Given the description of an element on the screen output the (x, y) to click on. 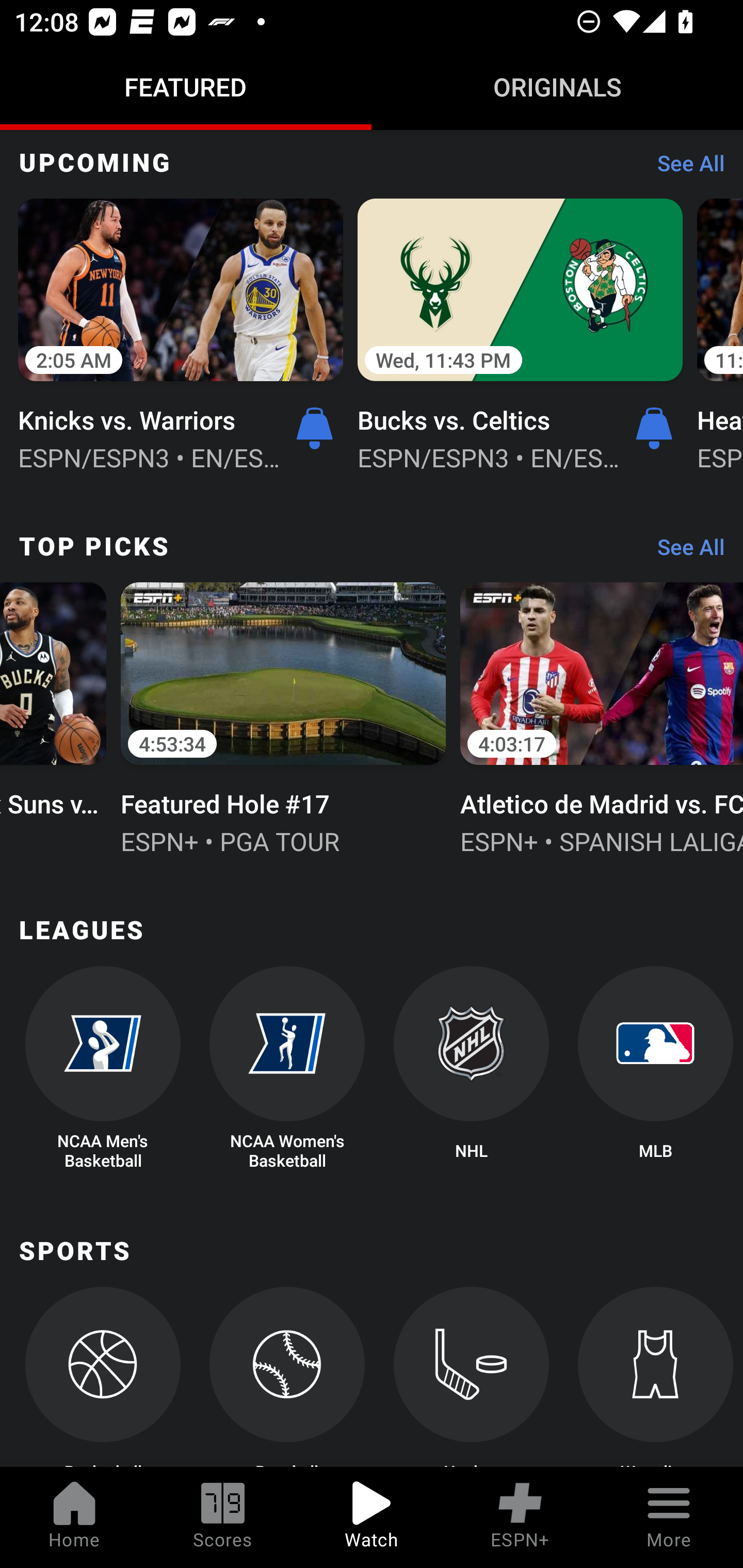
Originals ORIGINALS (557, 86)
See All (683, 167)
See All (683, 551)
4:53:34 Featured Hole #17 ESPN+ • PGA TOUR (282, 716)
NCAA Men's Basketball (102, 1068)
NCAA Women's Basketball (286, 1068)
NHL (471, 1068)
MLB (655, 1068)
Basketball (102, 1377)
Baseball (286, 1377)
Hockey (471, 1377)
Wrestling (655, 1377)
Home (74, 1517)
Scores (222, 1517)
ESPN+ (519, 1517)
More (668, 1517)
